Given the description of an element on the screen output the (x, y) to click on. 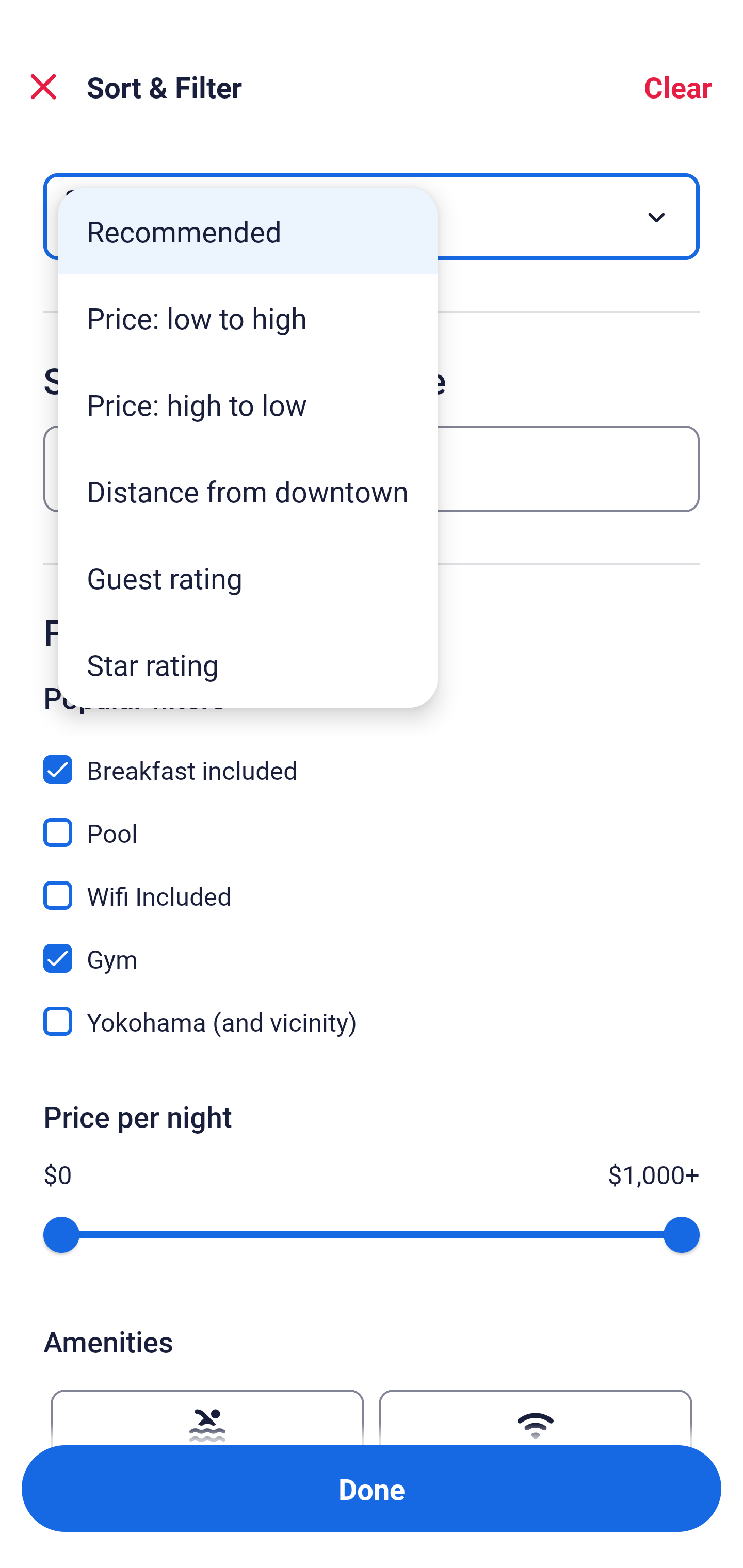
Price: low to high (247, 317)
Price: high to low (247, 404)
Distance from downtown (247, 491)
Guest rating (247, 577)
Star rating (247, 663)
